Given the description of an element on the screen output the (x, y) to click on. 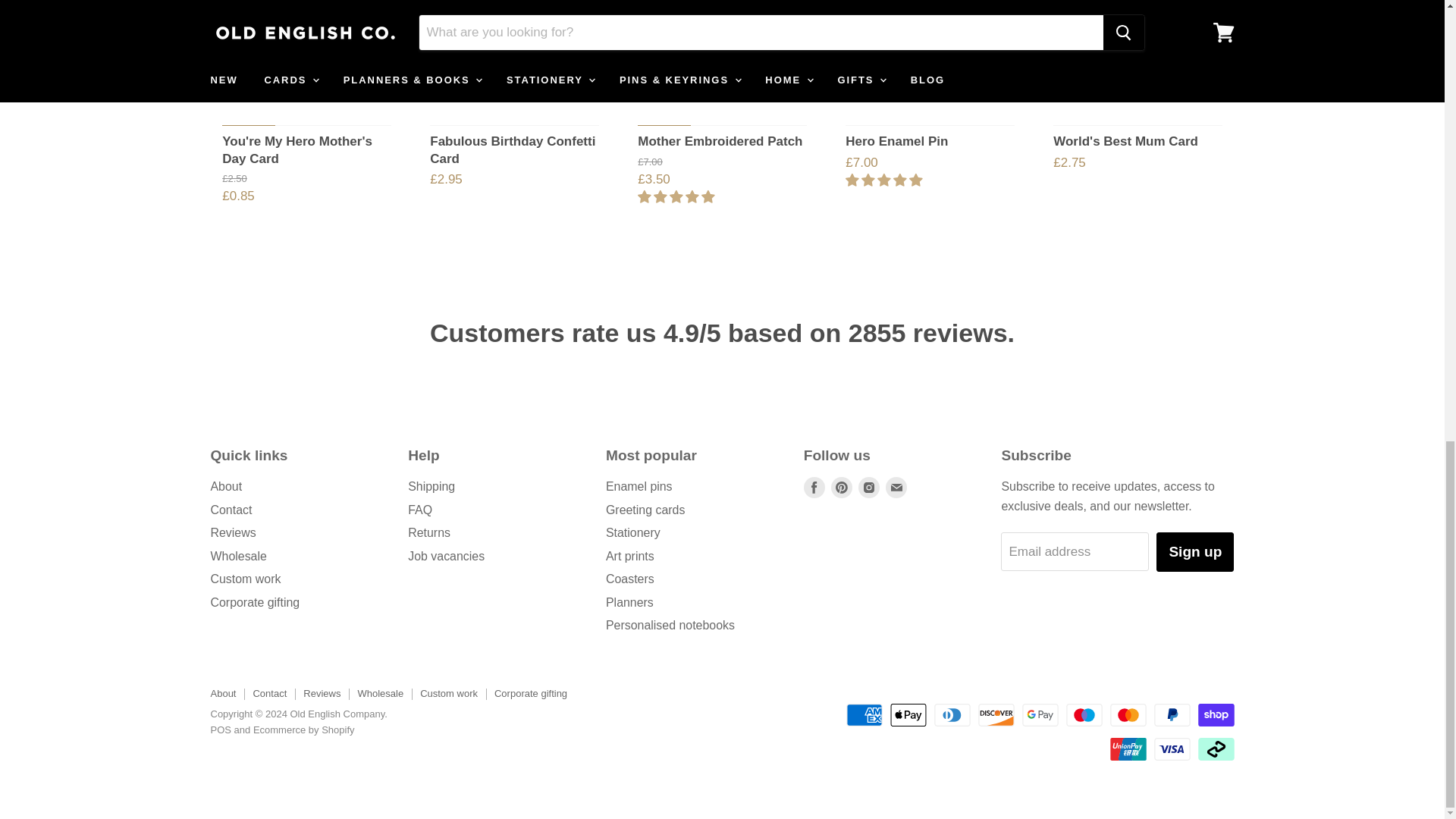
Facebook (814, 486)
Instagram (869, 486)
E-mail (896, 486)
Pinterest (841, 486)
